Given the description of an element on the screen output the (x, y) to click on. 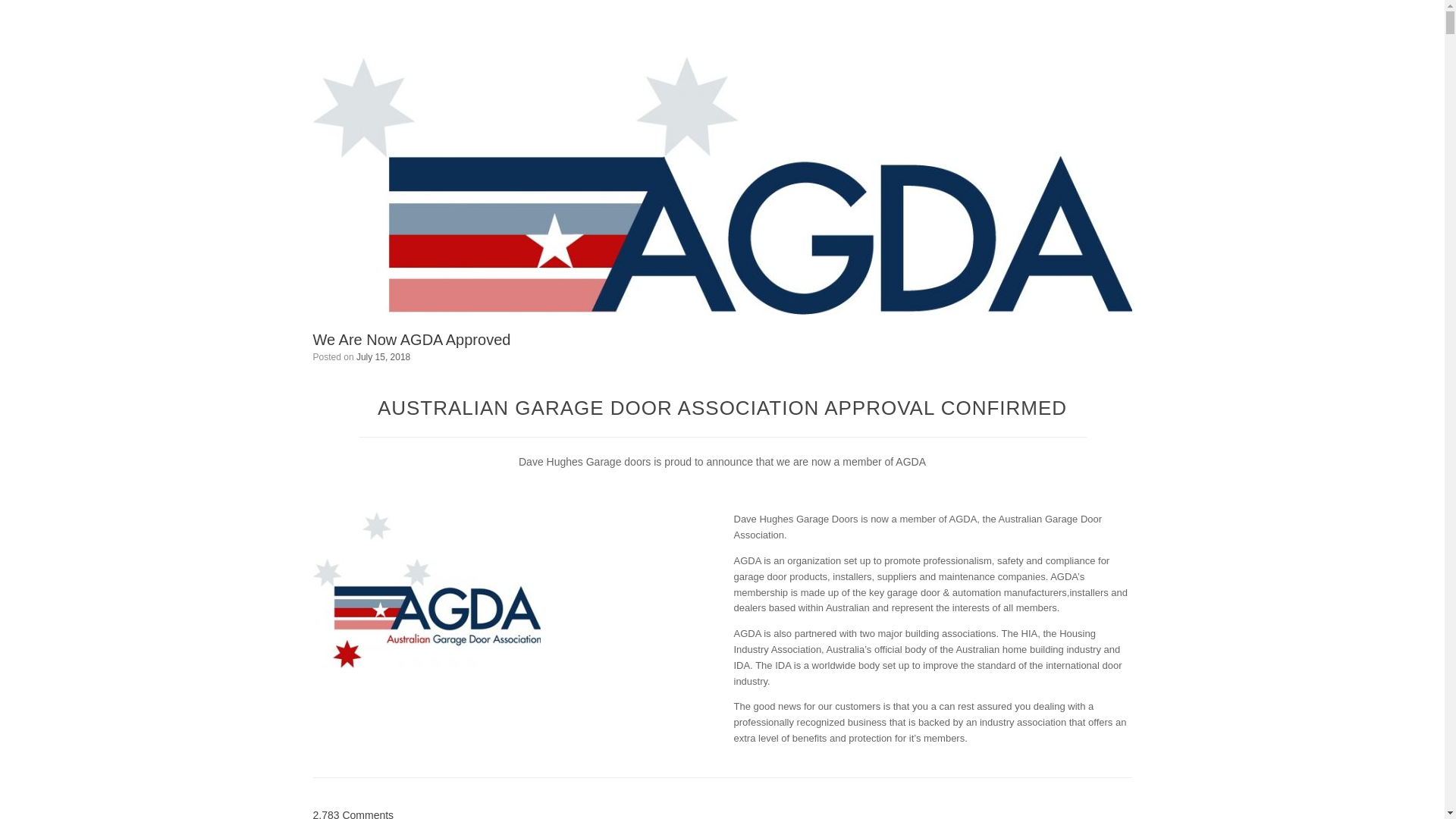
July 15, 2018 Element type: text (383, 356)
